Given the description of an element on the screen output the (x, y) to click on. 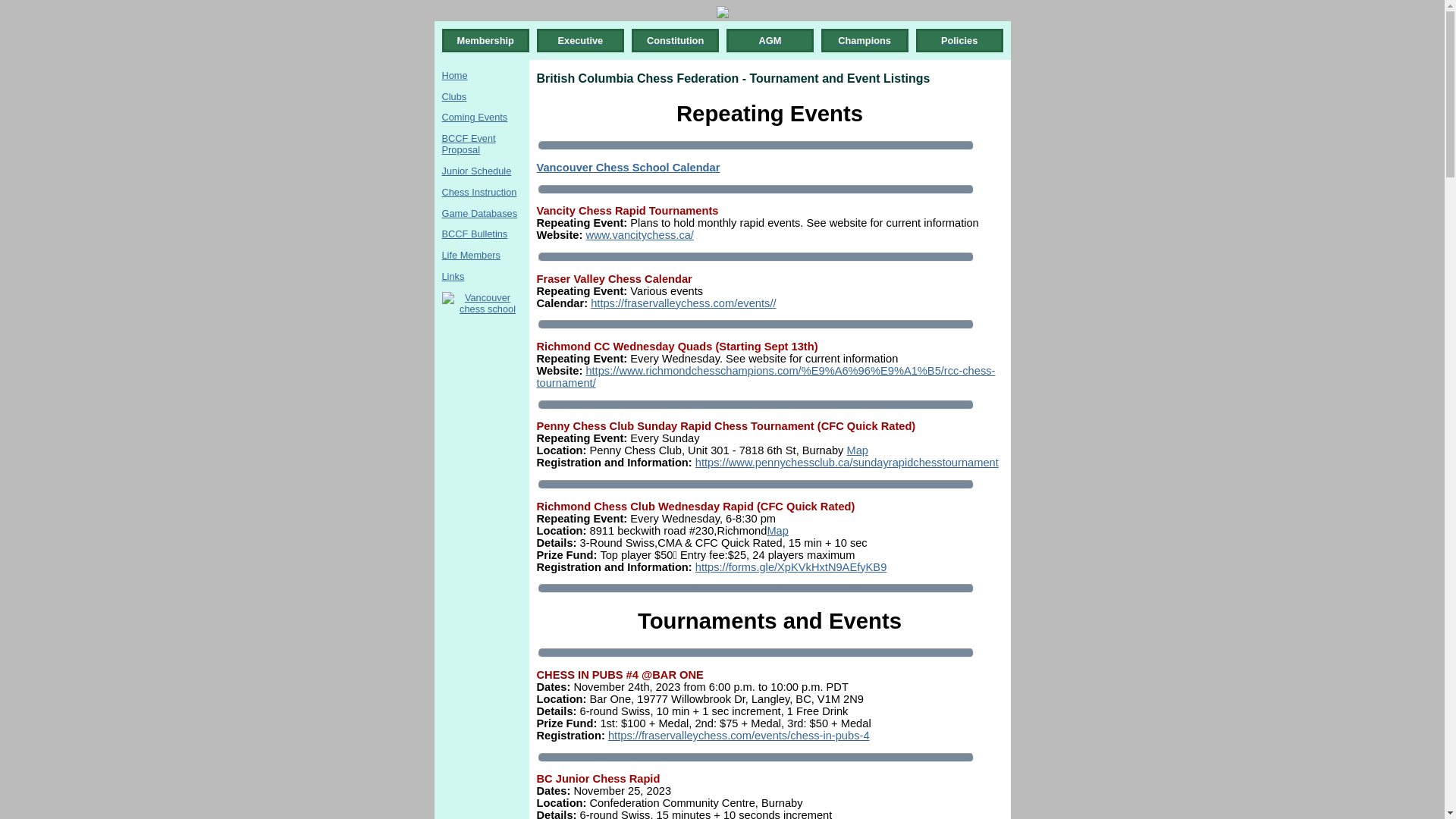
Map Element type: text (777, 530)
https://fraservalleychess.com/events/chess-in-pubs-4 Element type: text (738, 735)
Membership Element type: text (484, 40)
Links Element type: text (452, 276)
Champions Element type: text (864, 40)
Home Element type: text (454, 75)
AGM Element type: text (769, 40)
www.vancitychess.ca/ Element type: text (639, 235)
Game Databases Element type: text (479, 213)
Vancouver Chess School Calendar Element type: text (628, 167)
Executive Element type: text (579, 40)
Life Members Element type: text (470, 254)
BCCF Event Proposal Element type: text (468, 143)
BCCF Bulletins Element type: text (474, 233)
Map Element type: text (857, 450)
Junior Schedule Element type: text (476, 170)
Clubs Element type: text (453, 96)
Policies Element type: text (959, 40)
https://fraservalleychess.com/events// Element type: text (682, 303)
Chess Instruction Element type: text (478, 191)
https://www.pennychessclub.ca/sundayrapidchesstournament Element type: text (846, 462)
Coming Events Element type: text (474, 116)
https://forms.gle/XpKVkHxtN9AEfyKB9 Element type: text (791, 567)
Constitution Element type: text (674, 40)
